Given the description of an element on the screen output the (x, y) to click on. 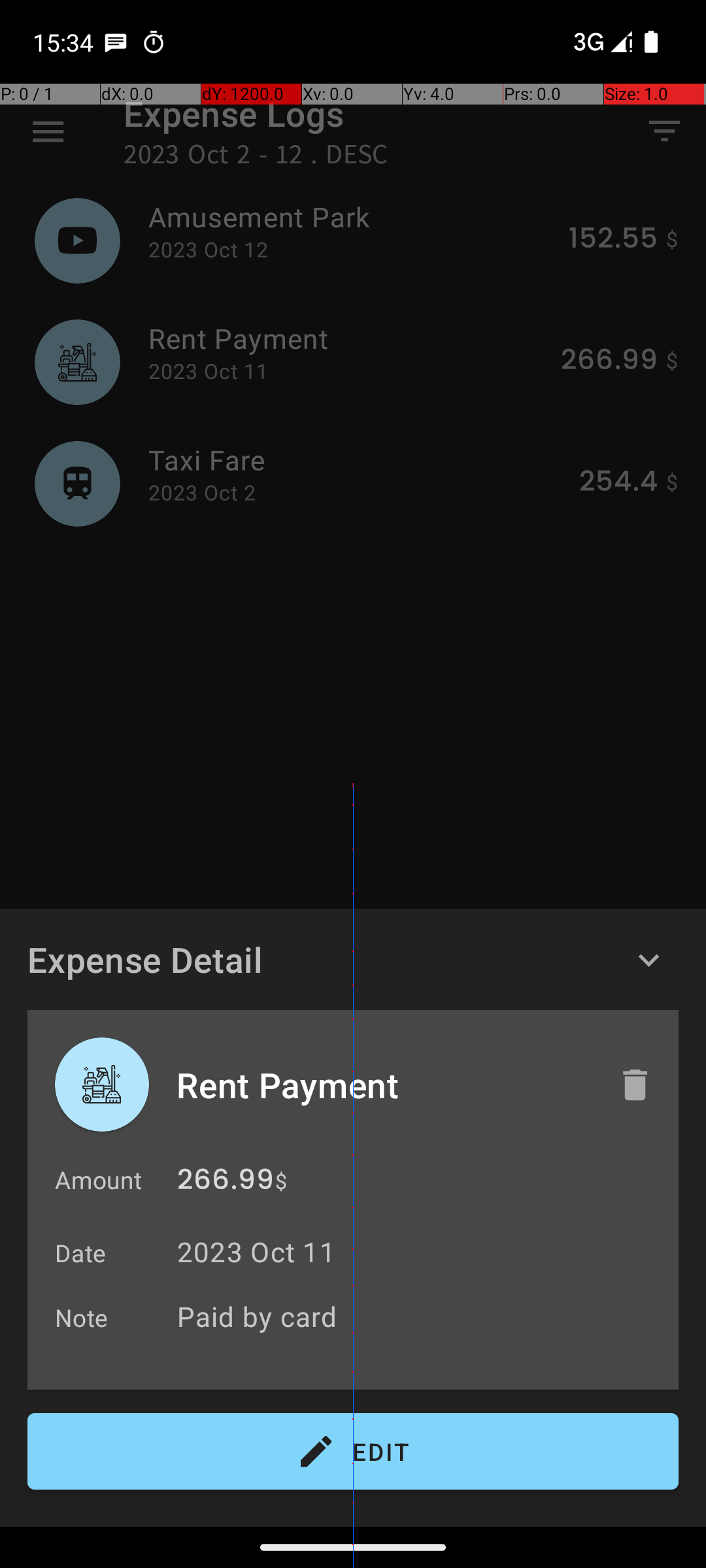
Rent Payment Element type: android.widget.TextView (383, 1084)
266.99 Element type: android.widget.TextView (225, 1182)
